Given the description of an element on the screen output the (x, y) to click on. 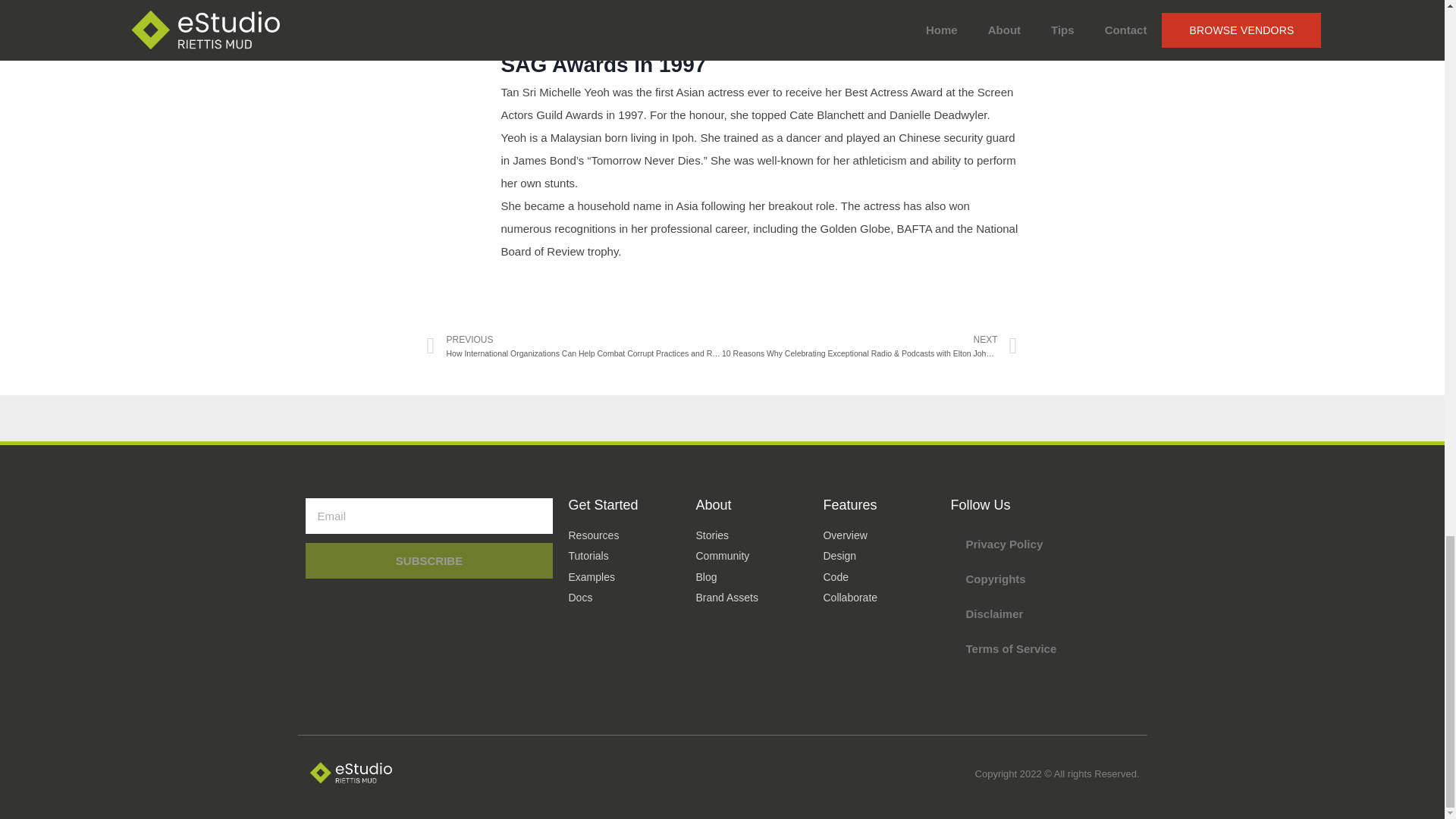
Terms of Service (1044, 648)
Copyrights (1044, 579)
Privacy Policy (1044, 544)
SUBSCRIBE (428, 560)
Disclaimer (1044, 614)
